Given the description of an element on the screen output the (x, y) to click on. 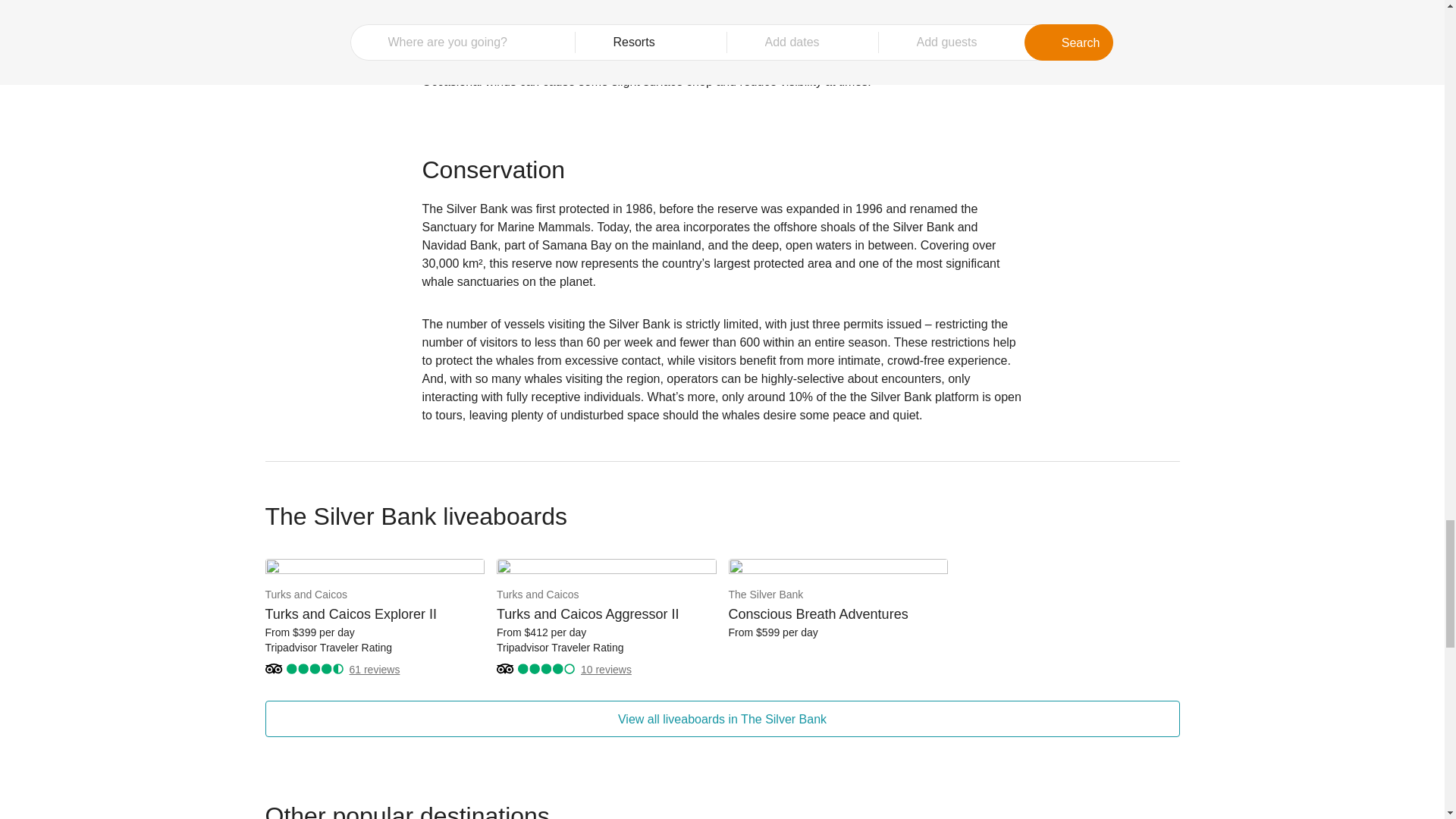
Conscious Breath Adventures (837, 598)
Turks and Caicos Aggressor II (606, 647)
Turks and Caicos Explorer II (374, 568)
10 reviews (605, 669)
View all liveaboards in The Silver Bank (721, 719)
Tripadvisor Traveler Rating (374, 647)
Turks and Caicos Aggressor II (606, 568)
Turks and Caicos Explorer II (306, 668)
Turks and Caicos Aggressor II (606, 612)
Turks and Caicos Explorer II (374, 612)
